Given the description of an element on the screen output the (x, y) to click on. 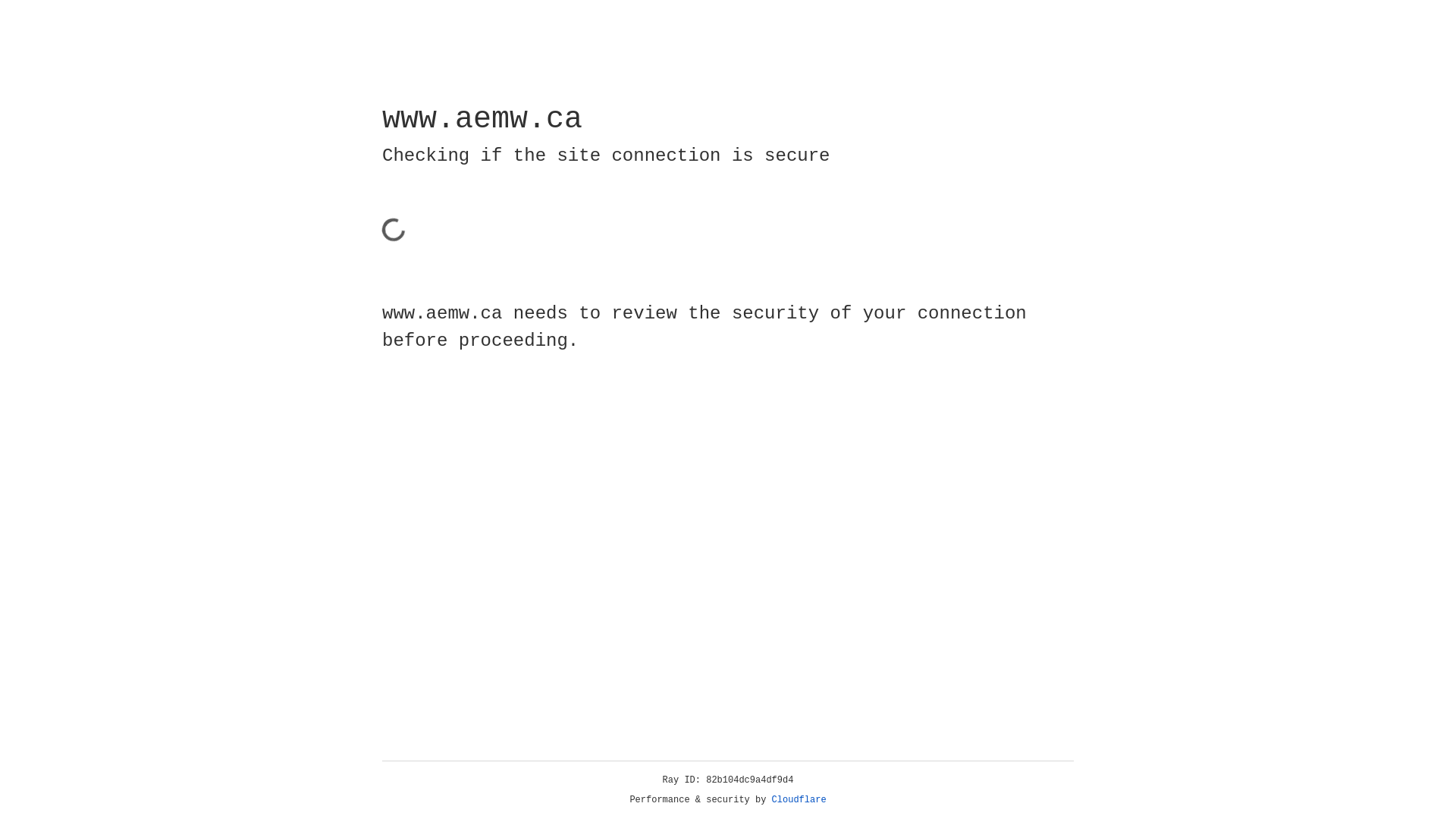
Cloudflare Element type: text (798, 799)
